Given the description of an element on the screen output the (x, y) to click on. 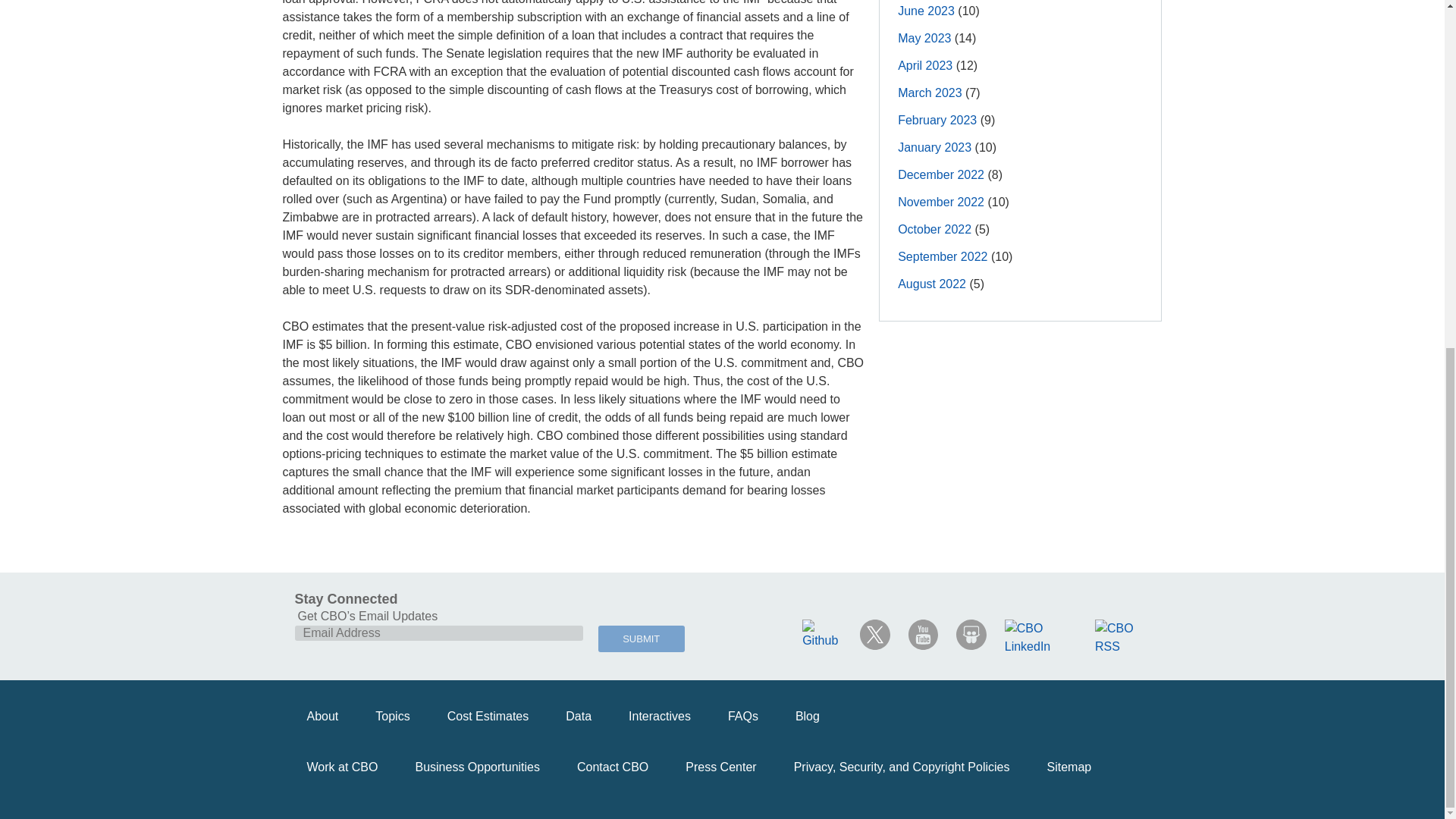
November 2022 (941, 201)
October 2022 (934, 228)
December 2022 (941, 174)
CBO X (874, 634)
SUBMIT (641, 638)
CBO RSS (1122, 637)
CBO Slideshare (971, 634)
April 2023 (925, 65)
CBO Youtube (923, 634)
May 2023 (924, 38)
